Given the description of an element on the screen output the (x, y) to click on. 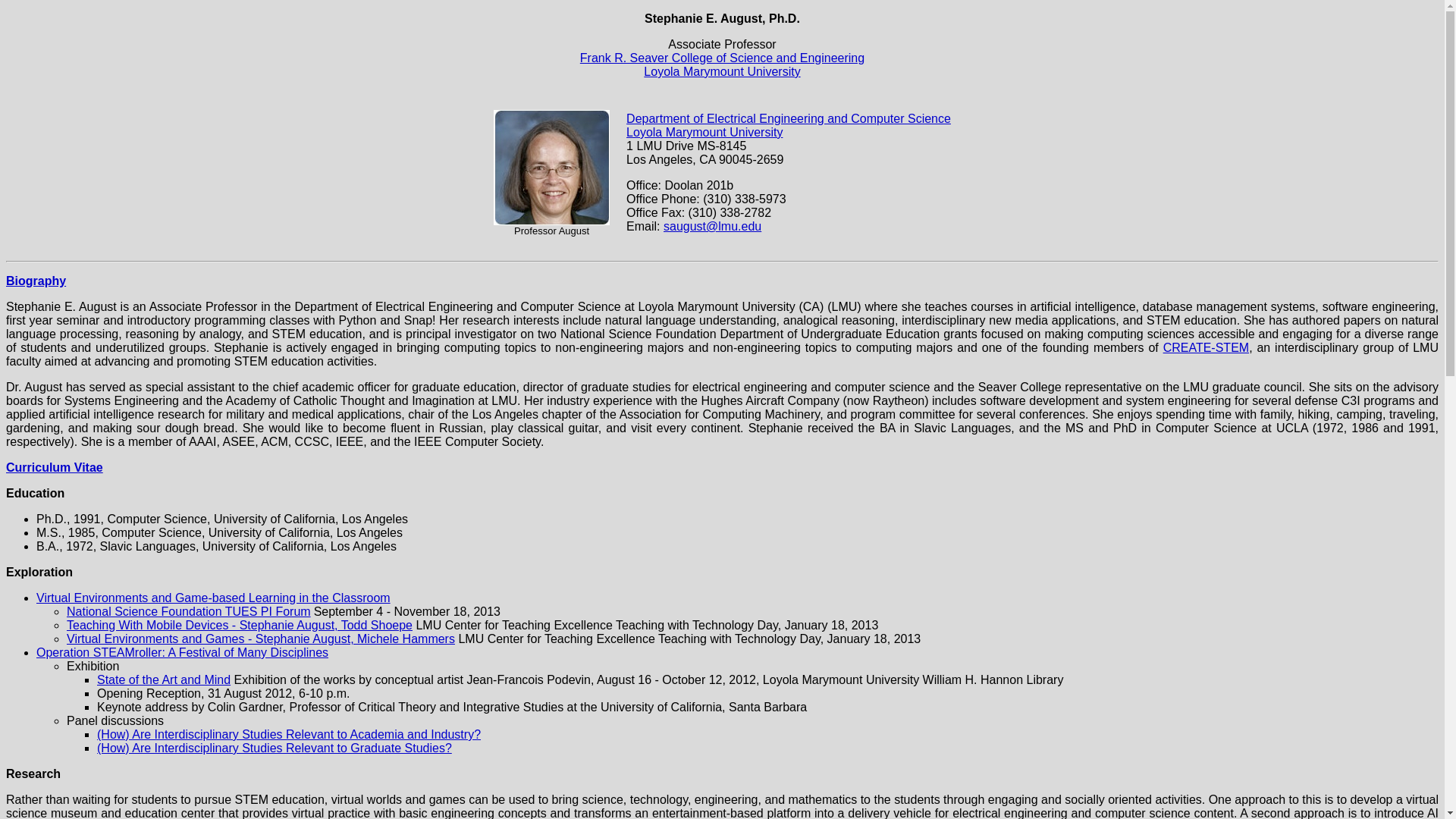
Frank R. Seaver College of Science and Engineering Element type: text (722, 57)
Biography Element type: text (35, 280)
CREATE-STEM Element type: text (1205, 347)
Teaching With Mobile Devices - Stephanie August, Todd Shoepe Element type: text (239, 624)
State of the Art and Mind Element type: text (163, 679)
saugust@lmu.edu Element type: text (712, 225)
National Science Foundation TUES PI Forum Element type: text (188, 611)
Loyola Marymount University Element type: text (704, 131)
Loyola Marymount University Element type: text (721, 71)
Department of Electrical Engineering and Computer Science Element type: text (788, 118)
Curriculum Vitae Element type: text (54, 467)
Operation STEAMroller: A Festival of Many Disciplines Element type: text (182, 652)
